Given the description of an element on the screen output the (x, y) to click on. 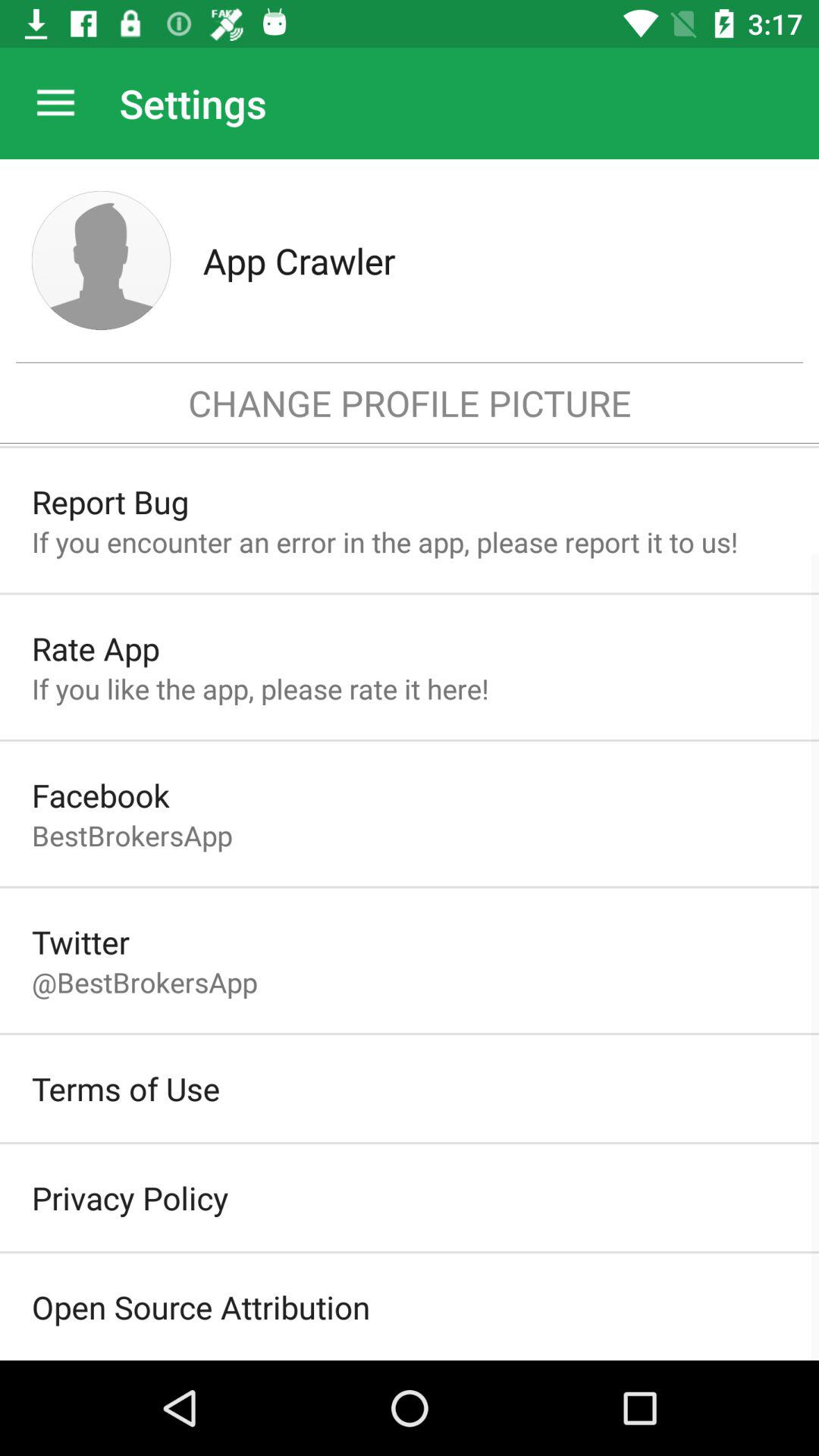
flip to terms of use icon (125, 1088)
